Given the description of an element on the screen output the (x, y) to click on. 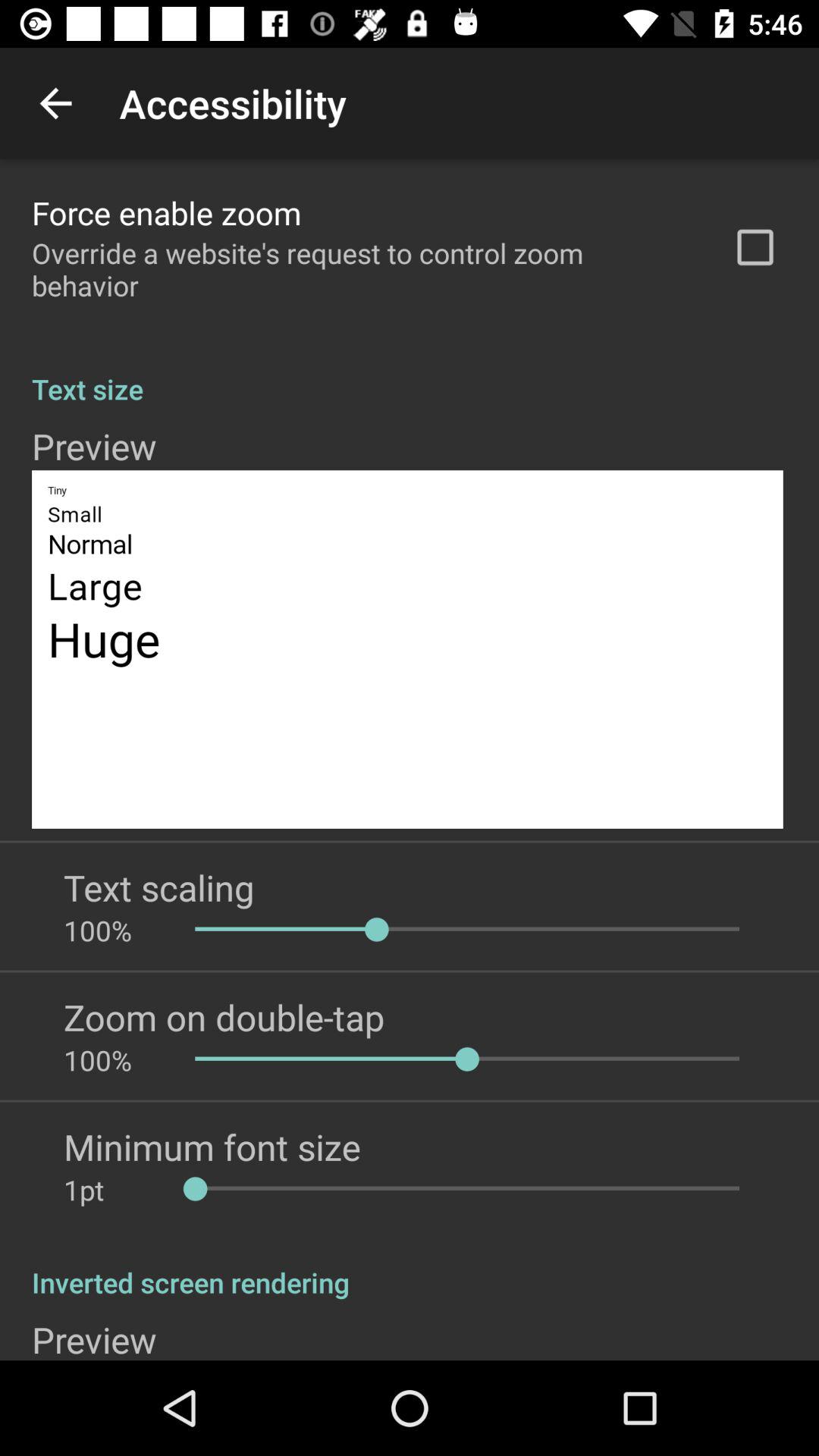
select the inverted screen rendering icon (409, 1266)
